Given the description of an element on the screen output the (x, y) to click on. 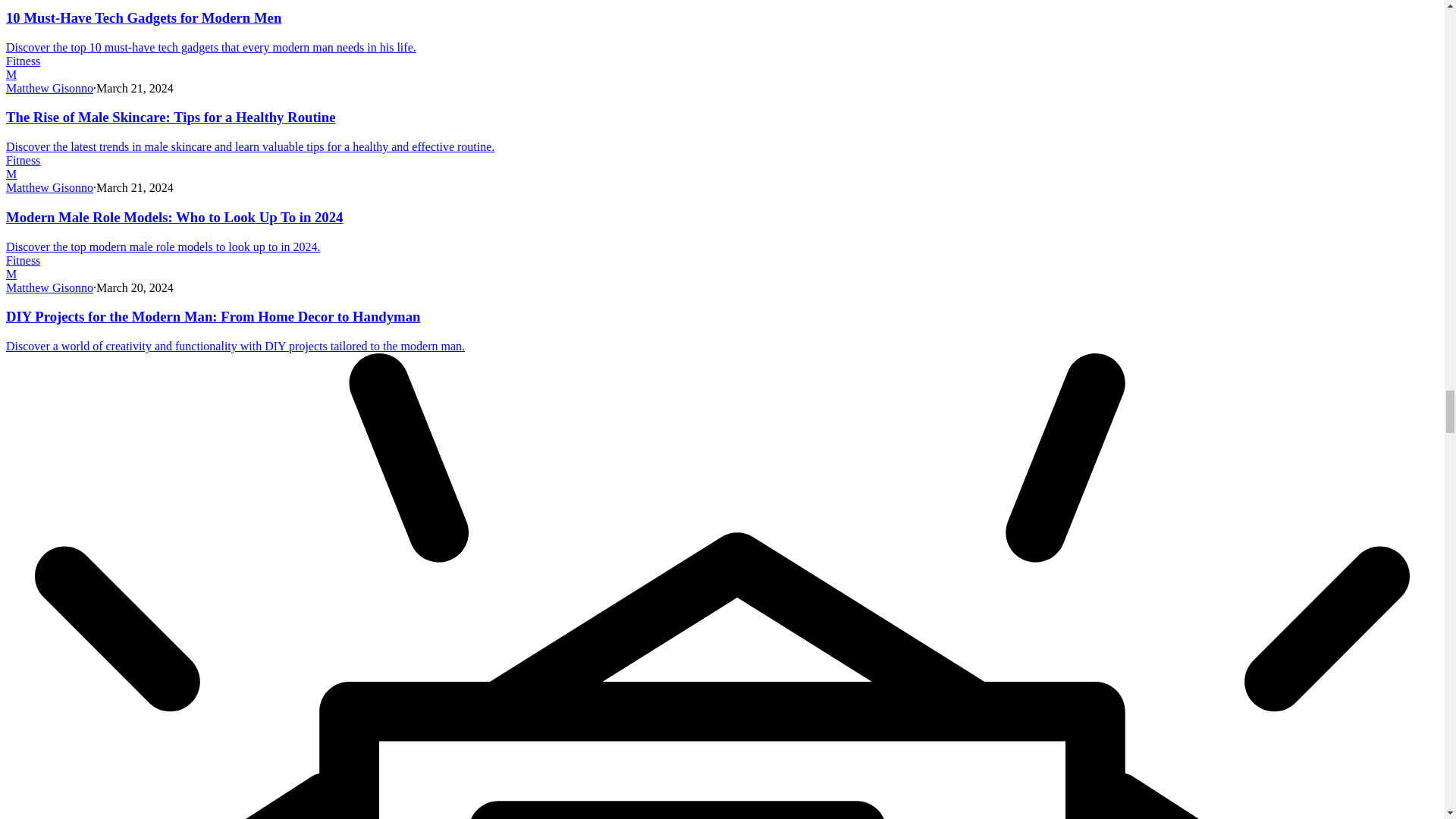
Modern Male Role Models: Who to Look Up To in 2024 (173, 217)
The Rise of Male Skincare: Tips for a Healthy Routine (170, 116)
10 Must-Have Tech Gadgets for Modern Men (143, 17)
Fitness (22, 60)
Fitness (22, 160)
10 Must-Have Tech Gadgets for Modern Men (143, 17)
10 Must-Have Tech Gadgets for Modern Men (210, 47)
